Given the description of an element on the screen output the (x, y) to click on. 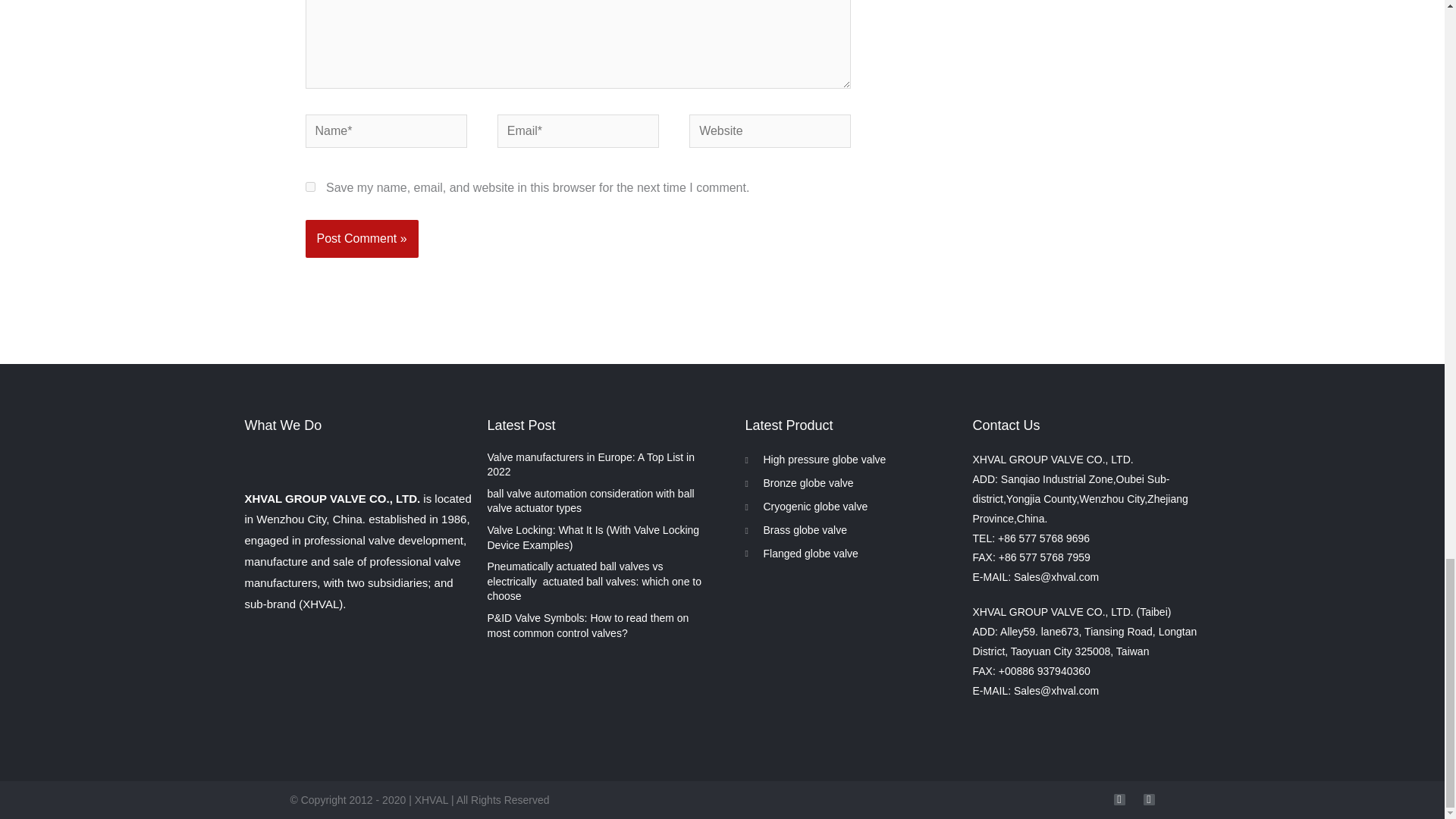
yes (309, 186)
